Given the description of an element on the screen output the (x, y) to click on. 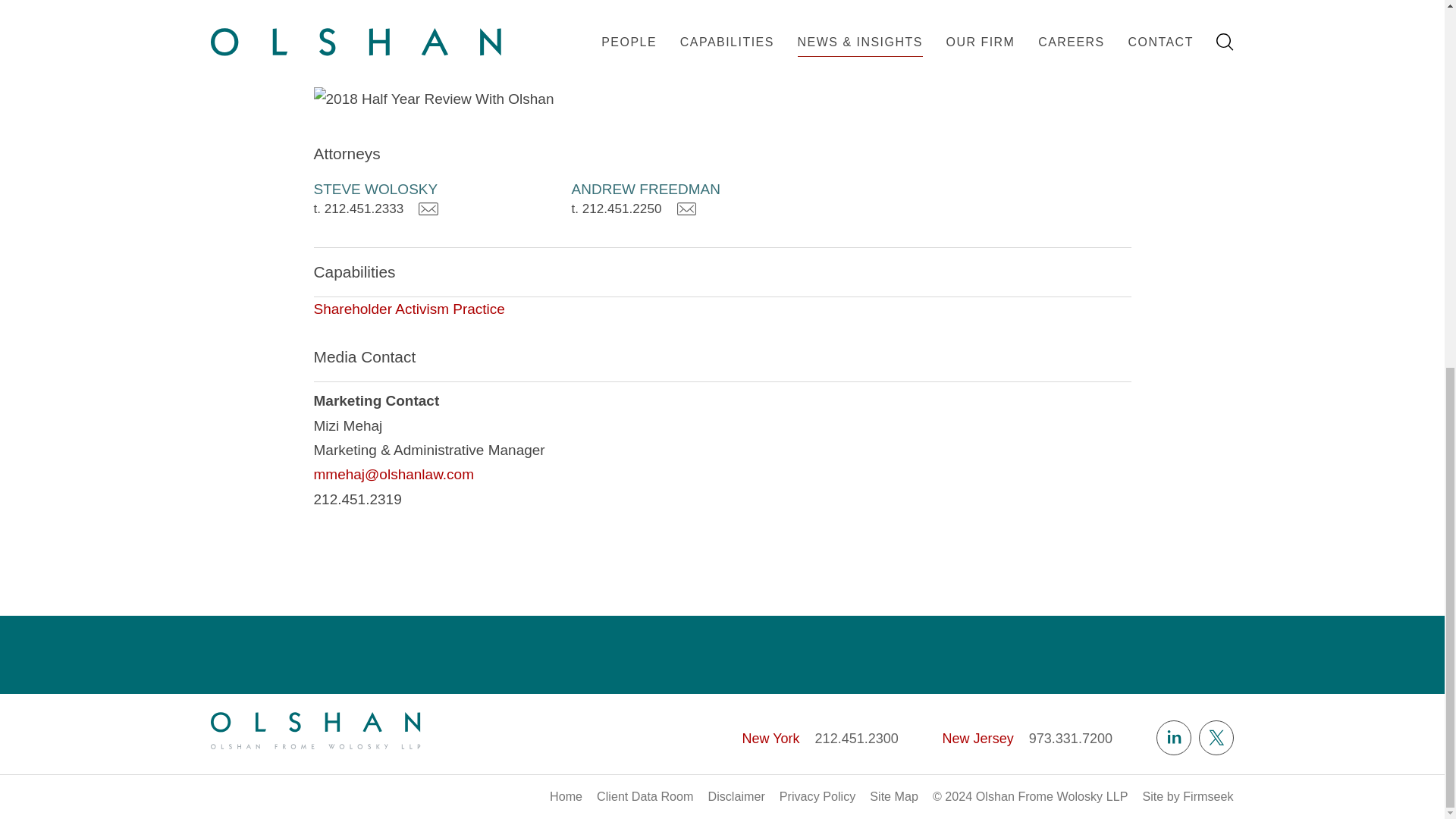
Linkedin (1173, 737)
Twitter (1215, 737)
Linkedin (1173, 737)
here (953, 56)
Footer Logo (315, 730)
